Given the description of an element on the screen output the (x, y) to click on. 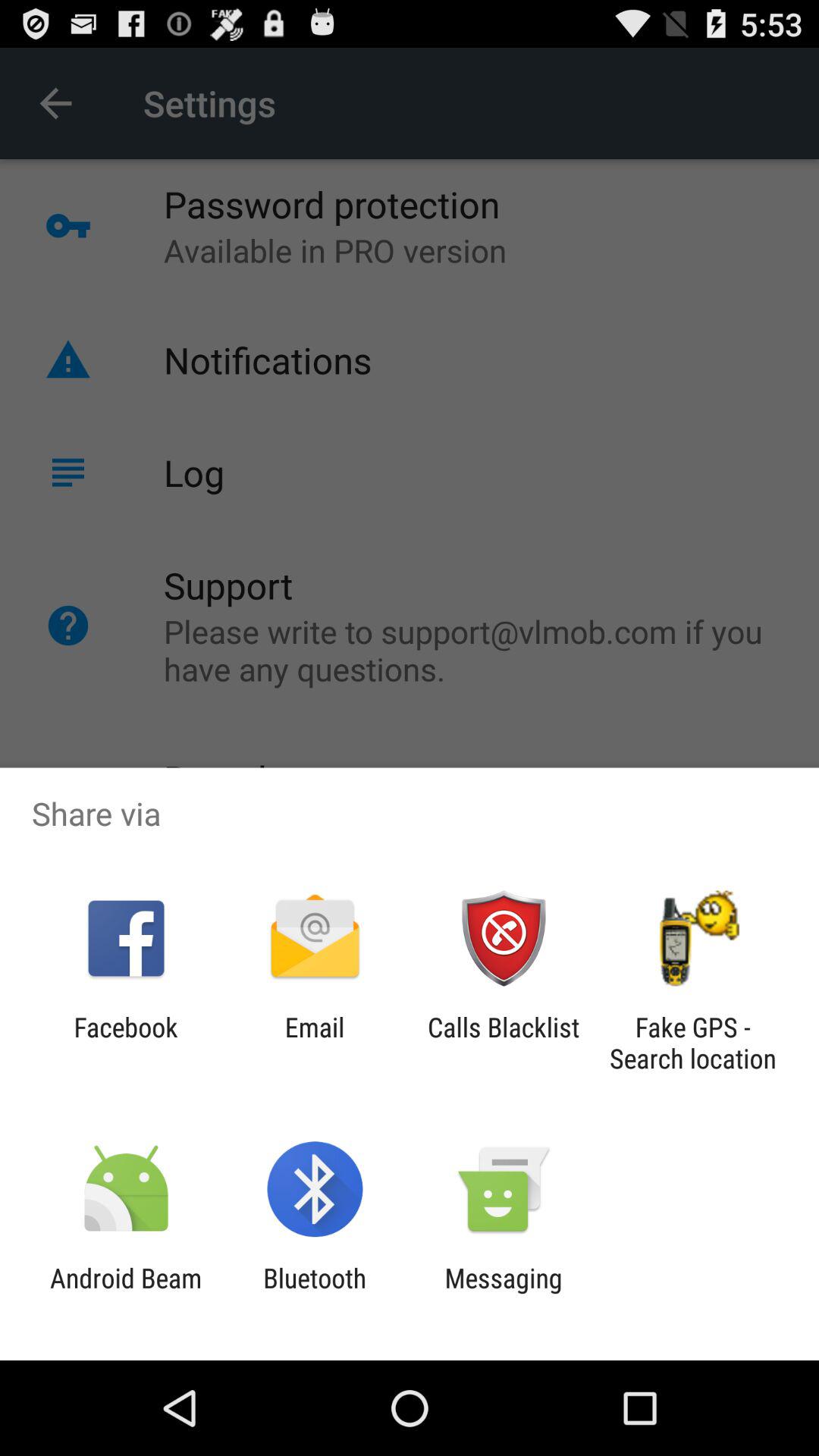
flip to the messaging app (503, 1293)
